Given the description of an element on the screen output the (x, y) to click on. 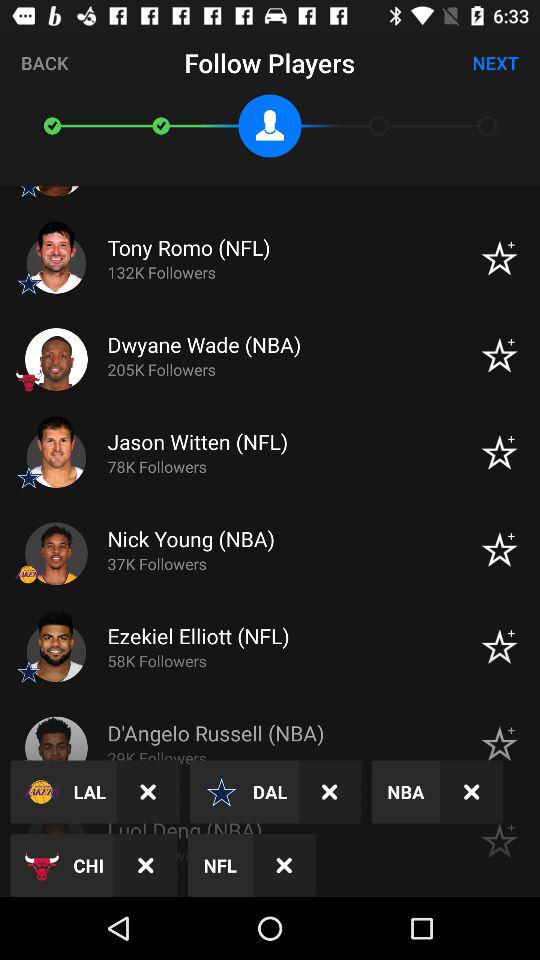
click on the star button to the right of dangelo russellnba text (499, 743)
click on the wrong mark beside nba (471, 792)
click on the star beside dangelo russellnba (499, 743)
select the image icon in front of text dangelo russell (56, 747)
select the icon which is right to ezekiel elliotnfl (499, 646)
click the star symbol to the right of dwyane wadenba (499, 355)
